Given the description of an element on the screen output the (x, y) to click on. 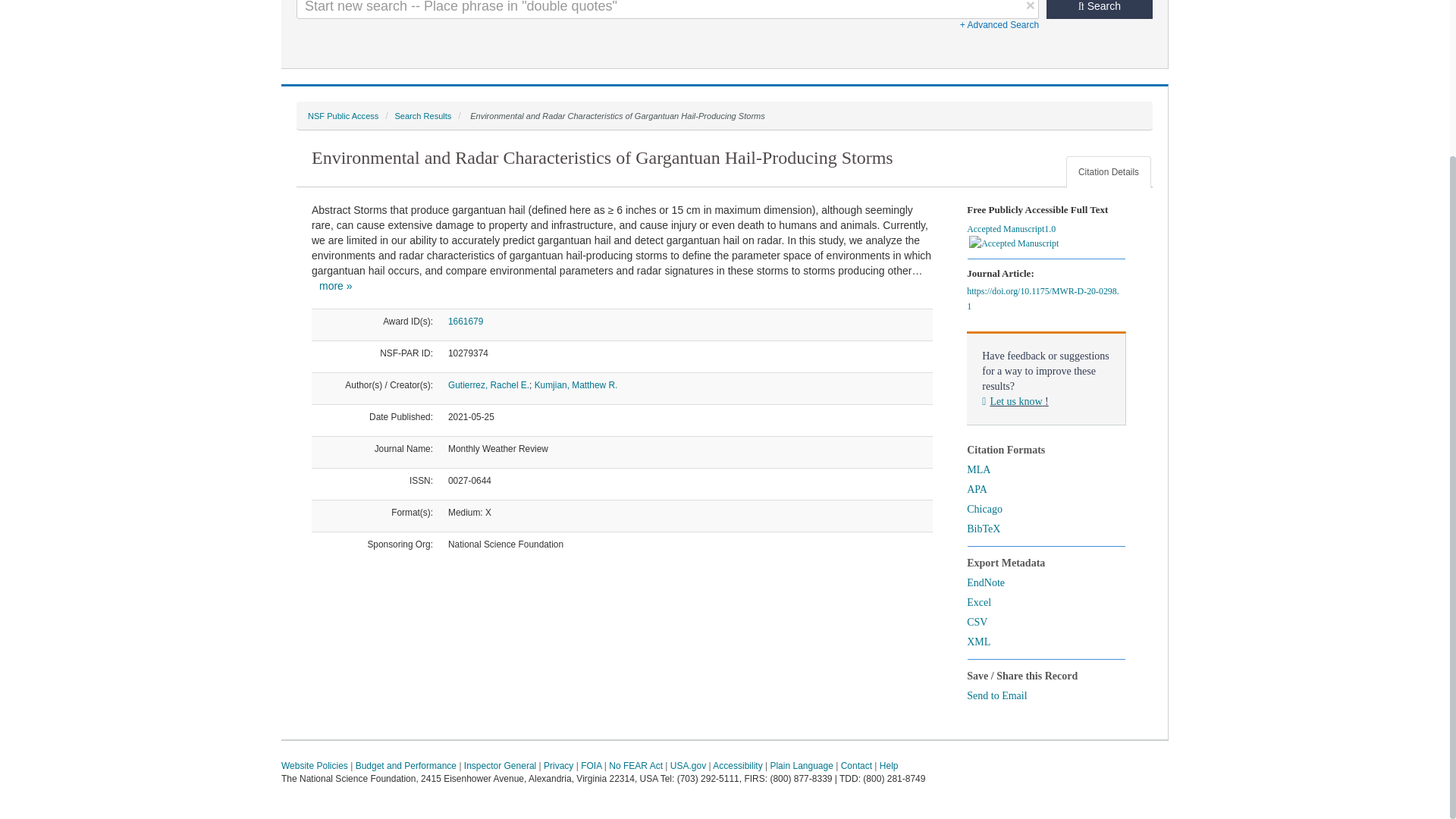
1661679 (465, 321)
Search (1099, 9)
Gutierrez, Rachel E. (488, 385)
Search Results (422, 115)
NSF Public Access (342, 115)
Kumjian, Matthew R. (575, 385)
Citation Details (1108, 172)
